Given the description of an element on the screen output the (x, y) to click on. 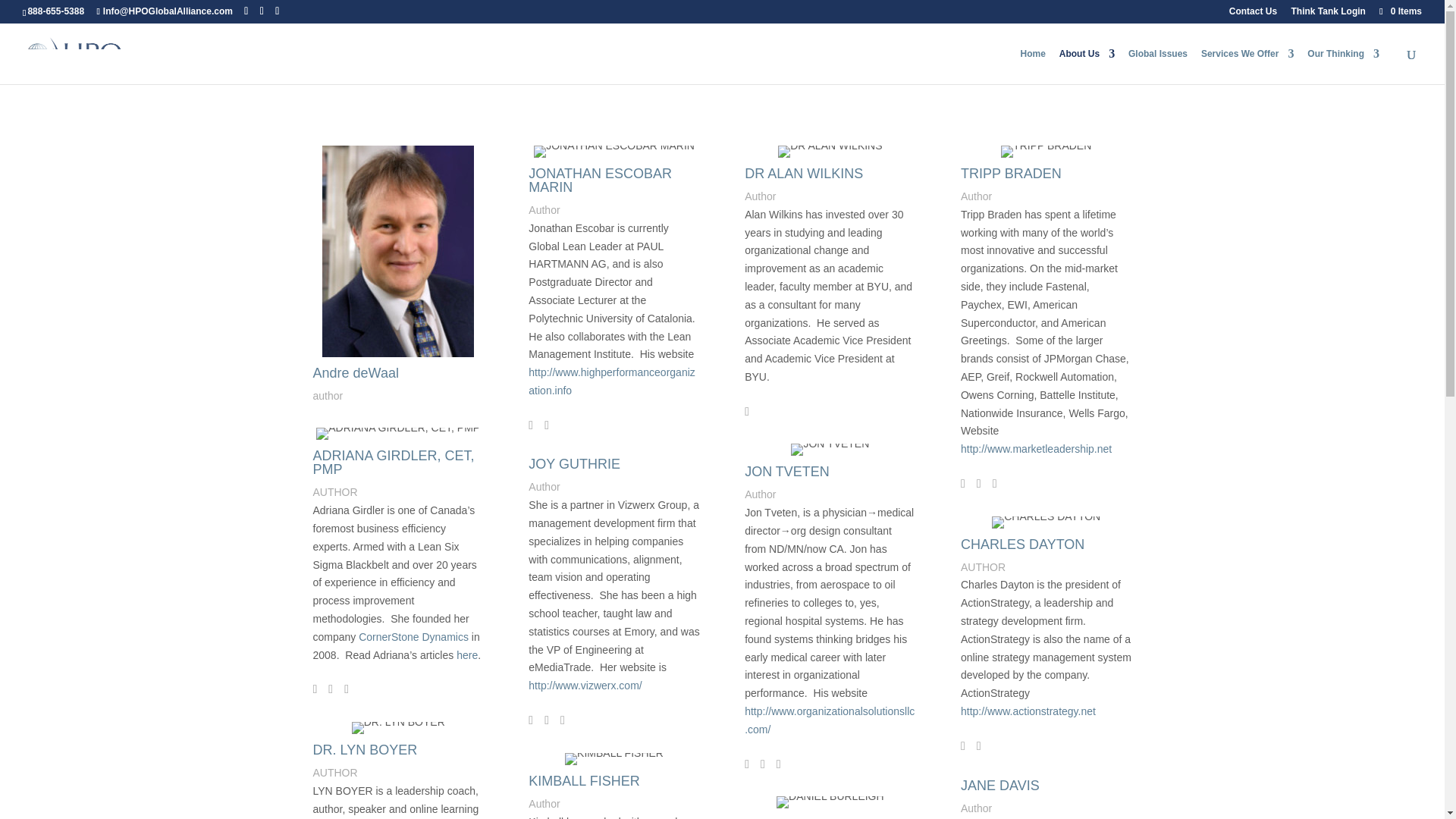
Services We Offer (1247, 66)
here (467, 654)
Think Tank Login (1327, 14)
CornerStone Dynamics (413, 636)
Global Issues (1158, 66)
Our Thinking (1342, 66)
About Us (1087, 66)
Contact Us (1252, 14)
0 Items (1399, 10)
